Given the description of an element on the screen output the (x, y) to click on. 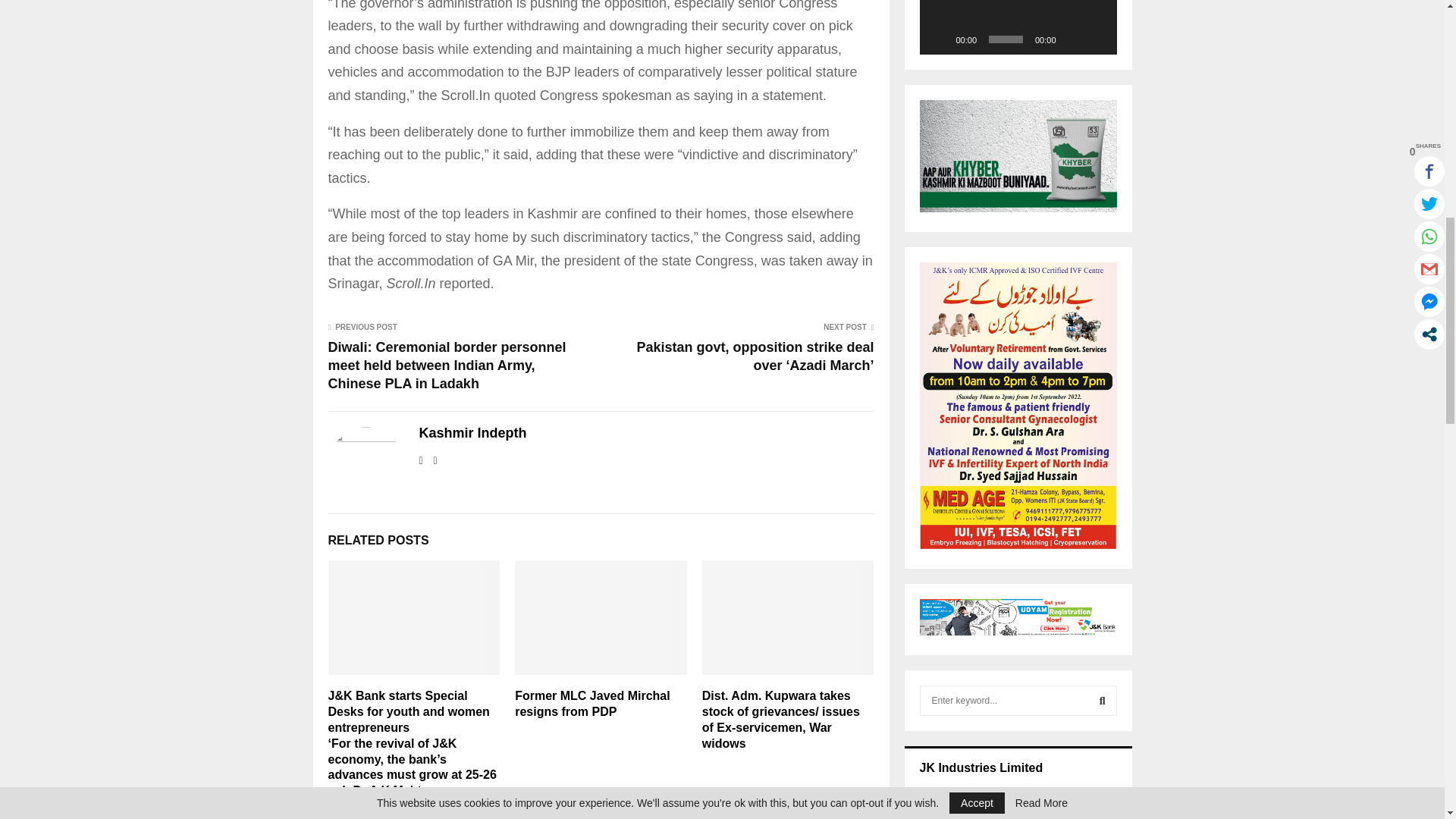
Mute (1072, 38)
Posts by Kashmir Indepth (472, 433)
Fullscreen (1096, 38)
Play (938, 38)
